Given the description of an element on the screen output the (x, y) to click on. 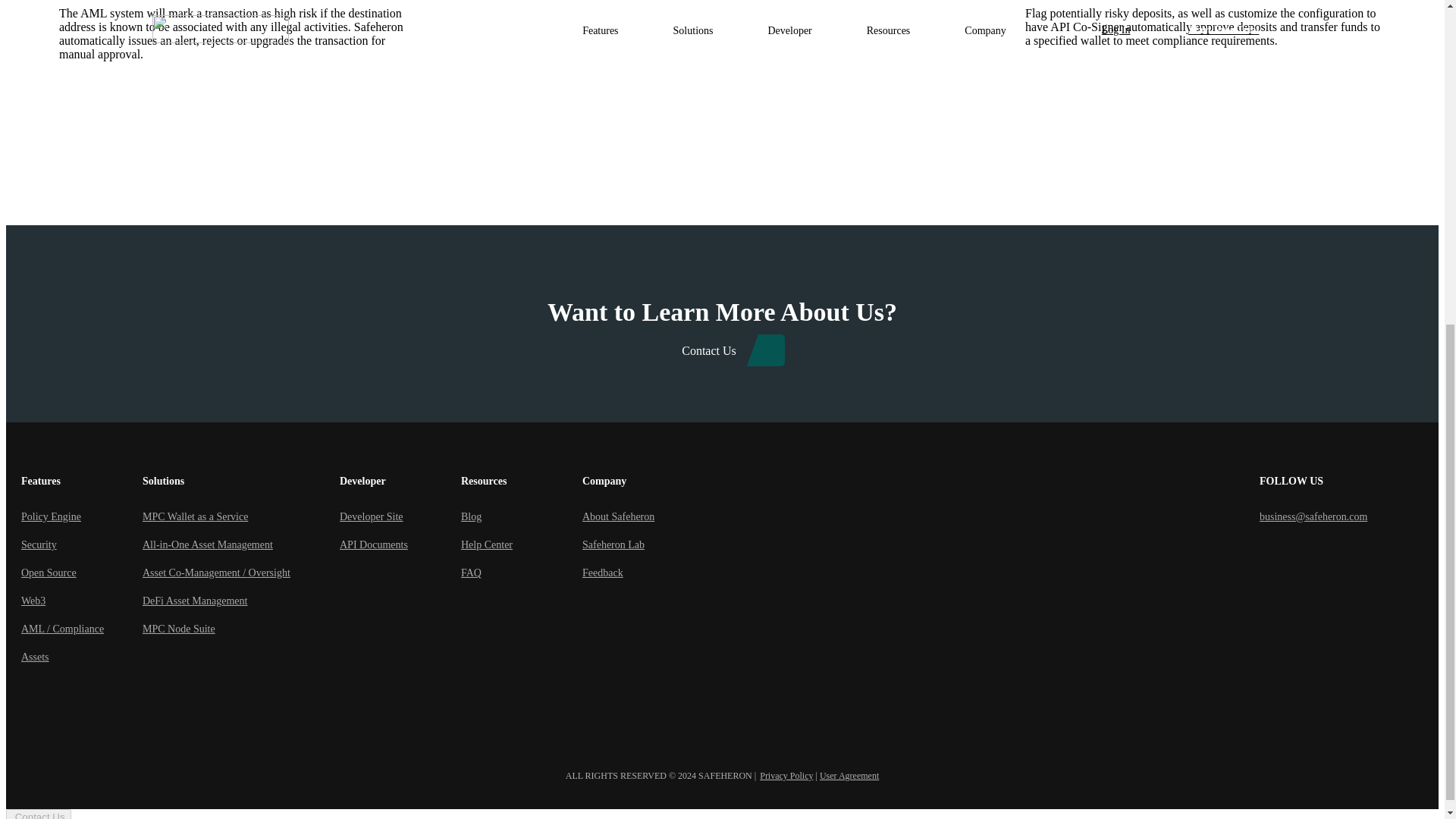
Feedback (642, 572)
Assets (81, 656)
Contact Us (721, 350)
About Safeheron (642, 516)
Privacy Policy (786, 775)
Blog (521, 516)
All-in-One Asset Management (240, 544)
User Agreement (849, 775)
Open Source (81, 572)
API Documents (400, 544)
